Given the description of an element on the screen output the (x, y) to click on. 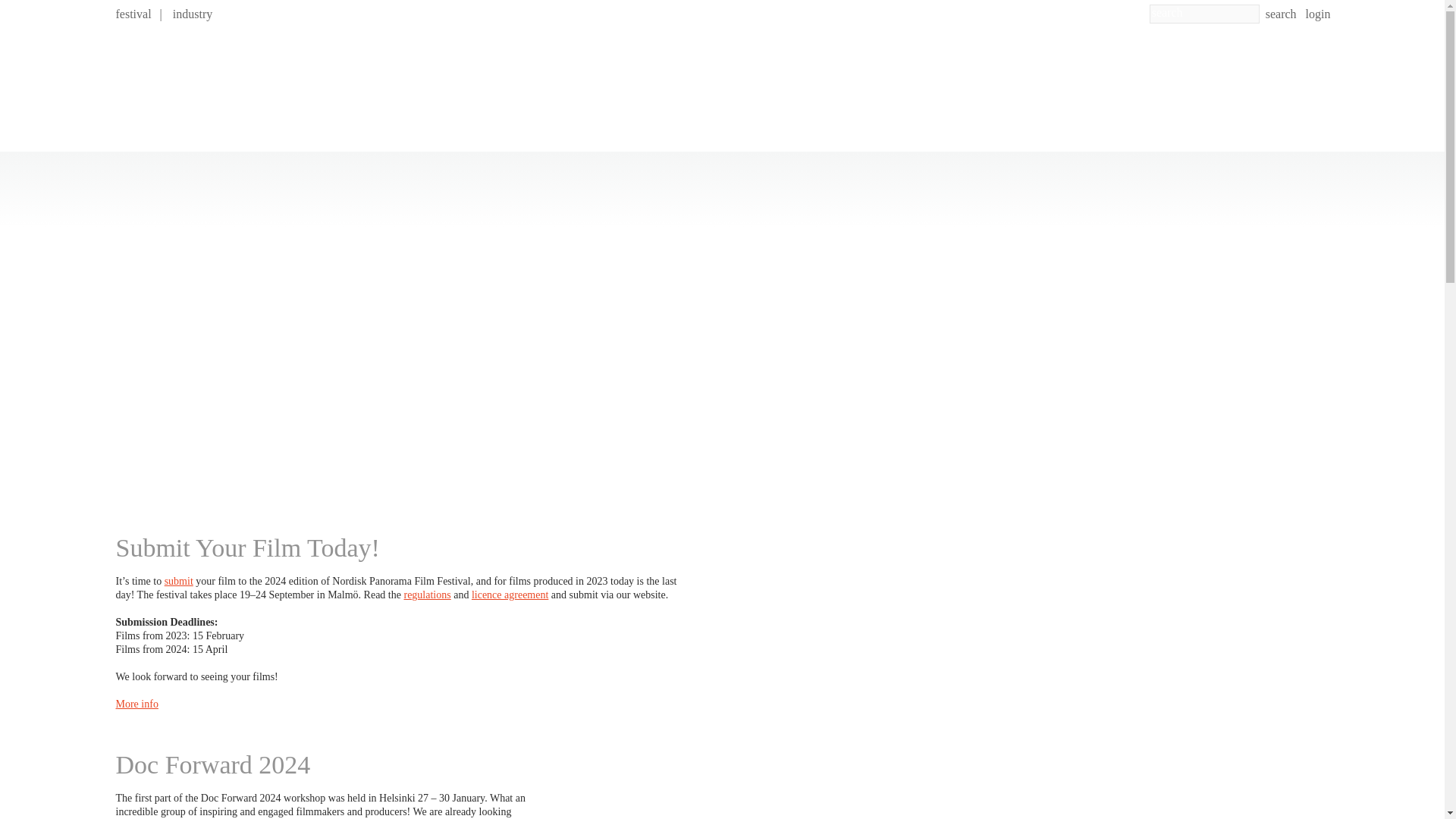
search (1280, 14)
search (1280, 14)
login (1318, 13)
industry (192, 13)
search (1280, 14)
festival (133, 13)
